Given the description of an element on the screen output the (x, y) to click on. 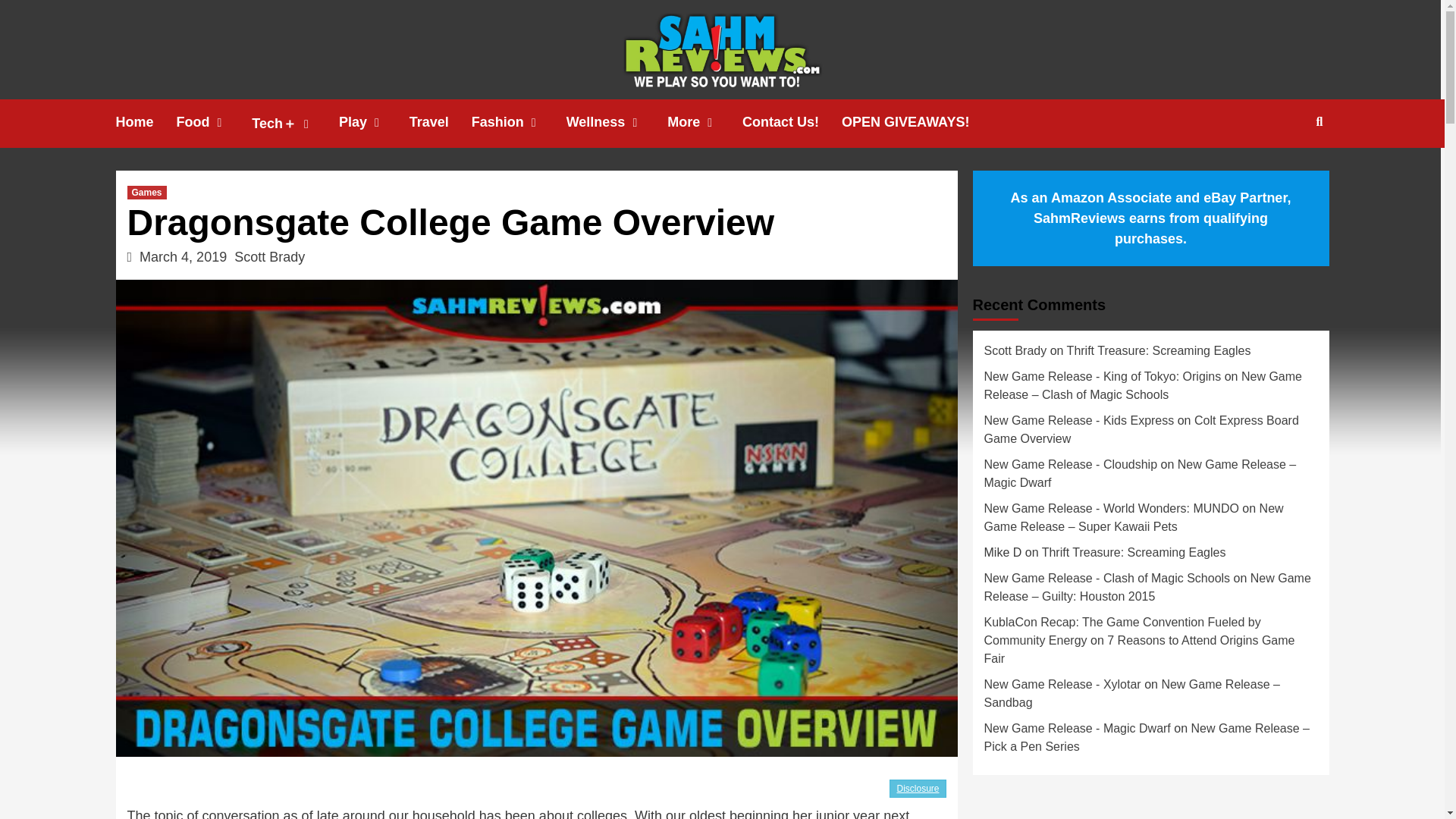
Travel (440, 122)
Home (145, 122)
Food (213, 122)
Fashion (518, 122)
Wellness (617, 122)
Play (374, 122)
More (704, 122)
